Given the description of an element on the screen output the (x, y) to click on. 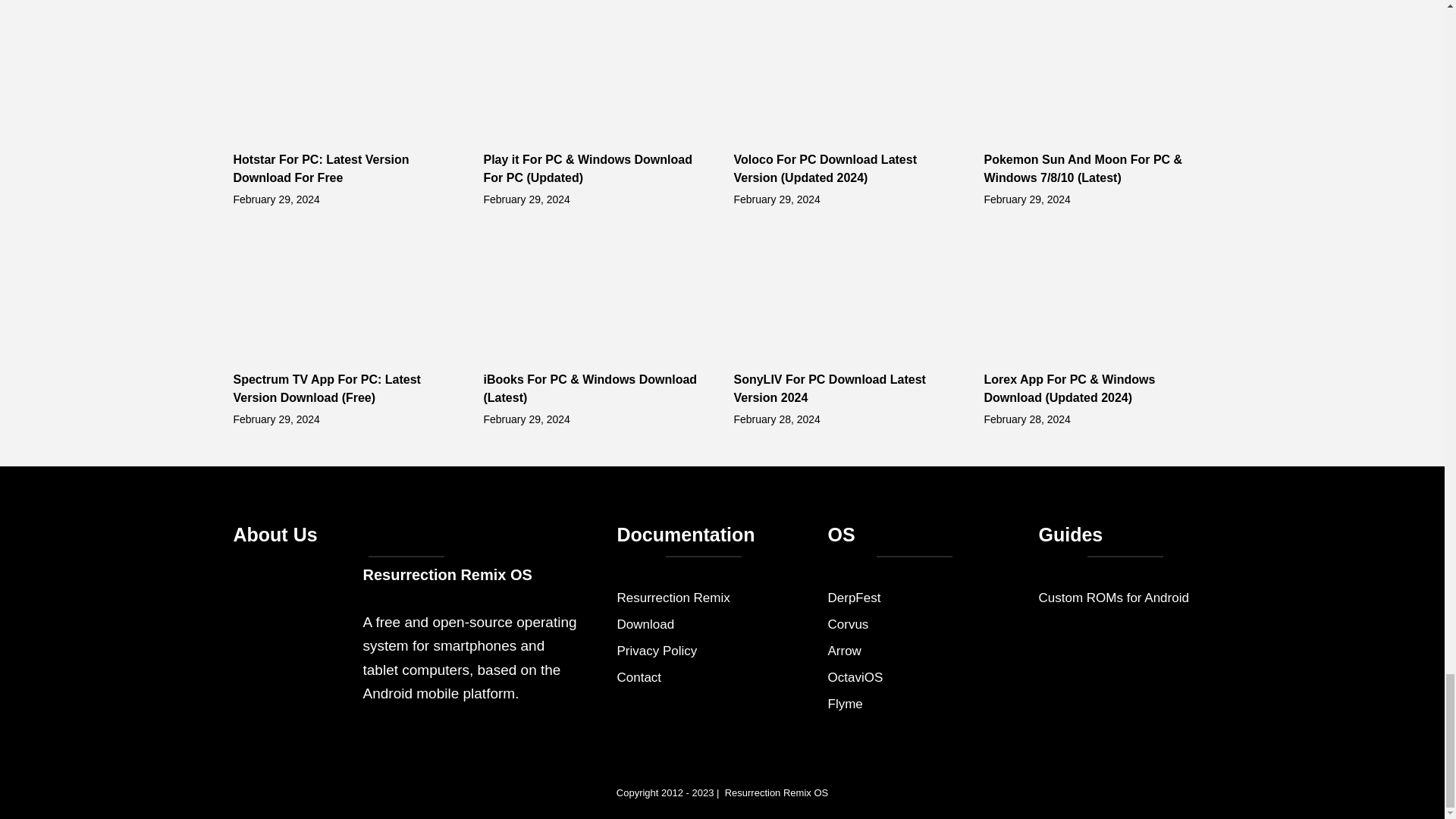
Hotstar For PC: Latest Version Download For Free (320, 168)
